Given the description of an element on the screen output the (x, y) to click on. 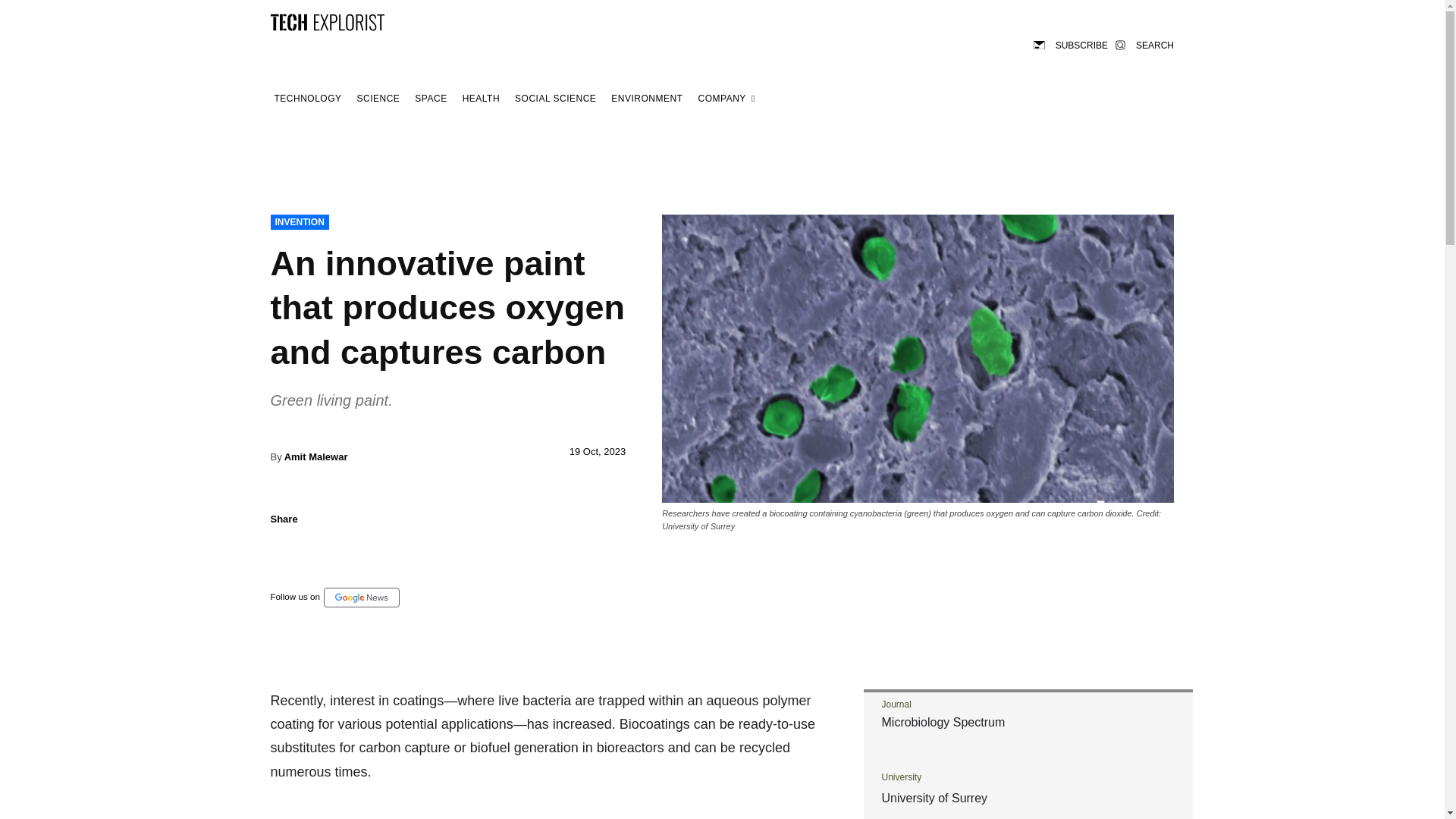
ENVIRONMENT (646, 98)
Amit Malewar (315, 456)
SPACE (429, 98)
SEARCH (1144, 44)
TECHNOLOGY (307, 98)
Tech Explorist (326, 21)
SOCIAL SCIENCE (555, 98)
INVENTION (299, 222)
SEARCH (1144, 44)
Technology (307, 98)
